Given the description of an element on the screen output the (x, y) to click on. 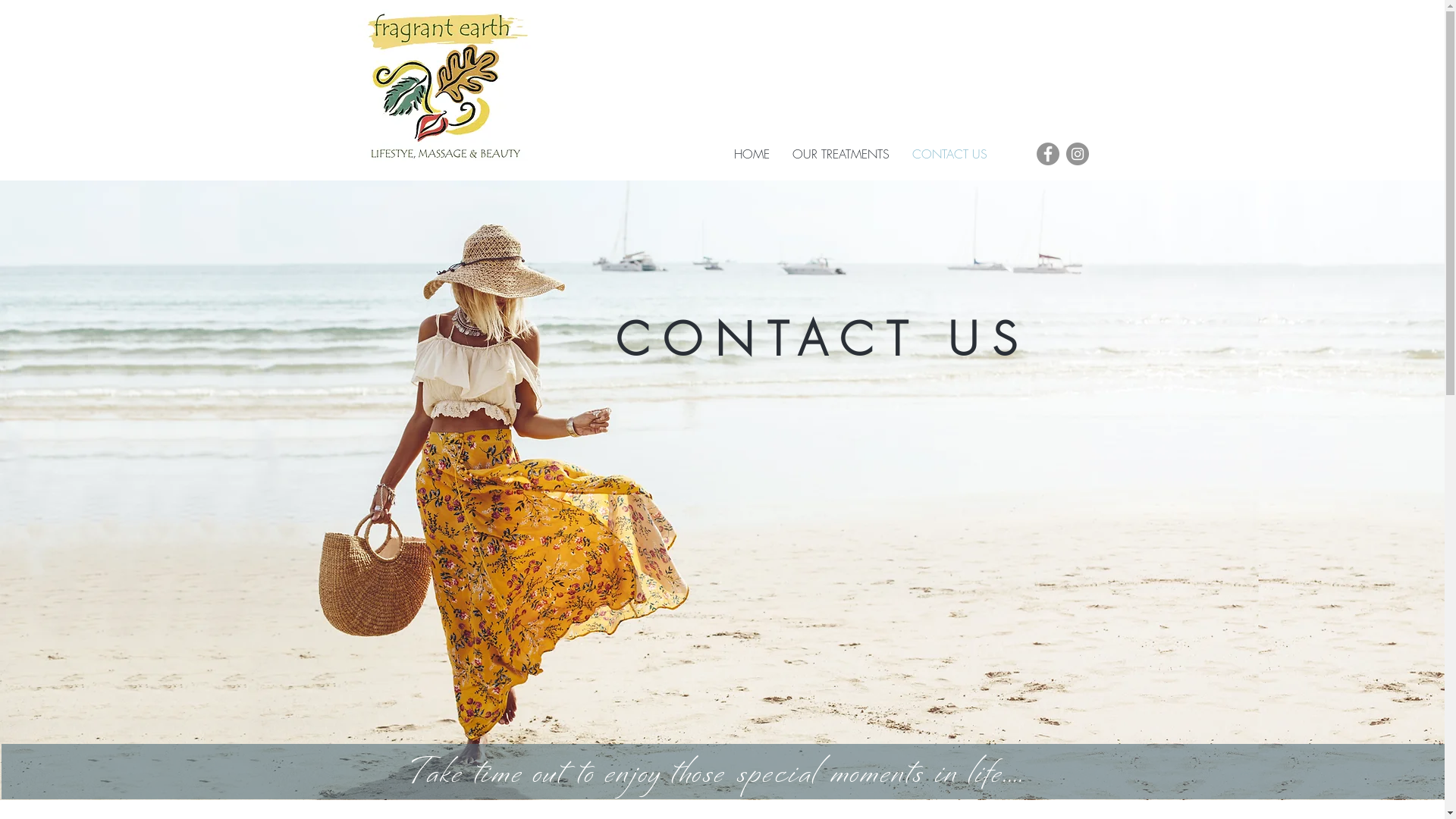
CONTACT US Element type: text (949, 153)
HOME Element type: text (750, 153)
OUR TREATMENTS Element type: text (840, 153)
